Given the description of an element on the screen output the (x, y) to click on. 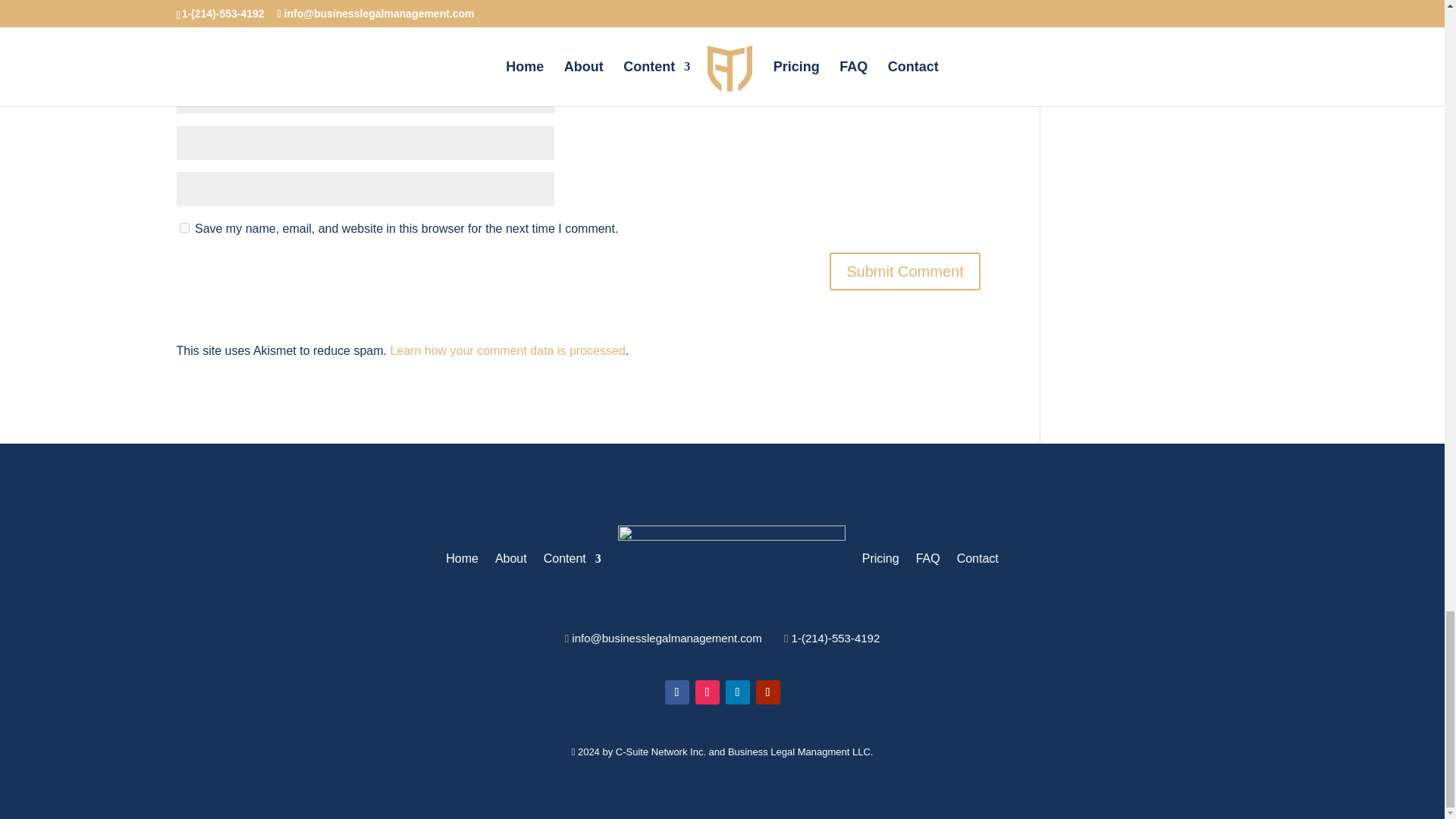
Follow on LinkedIn (737, 692)
Learn how your comment data is processed (507, 350)
Follow on Instagram (706, 692)
Submit Comment (904, 271)
Follow on Facebook (675, 692)
yes (184, 227)
Follow on Youtube (766, 692)
Submit Comment (904, 271)
